Given the description of an element on the screen output the (x, y) to click on. 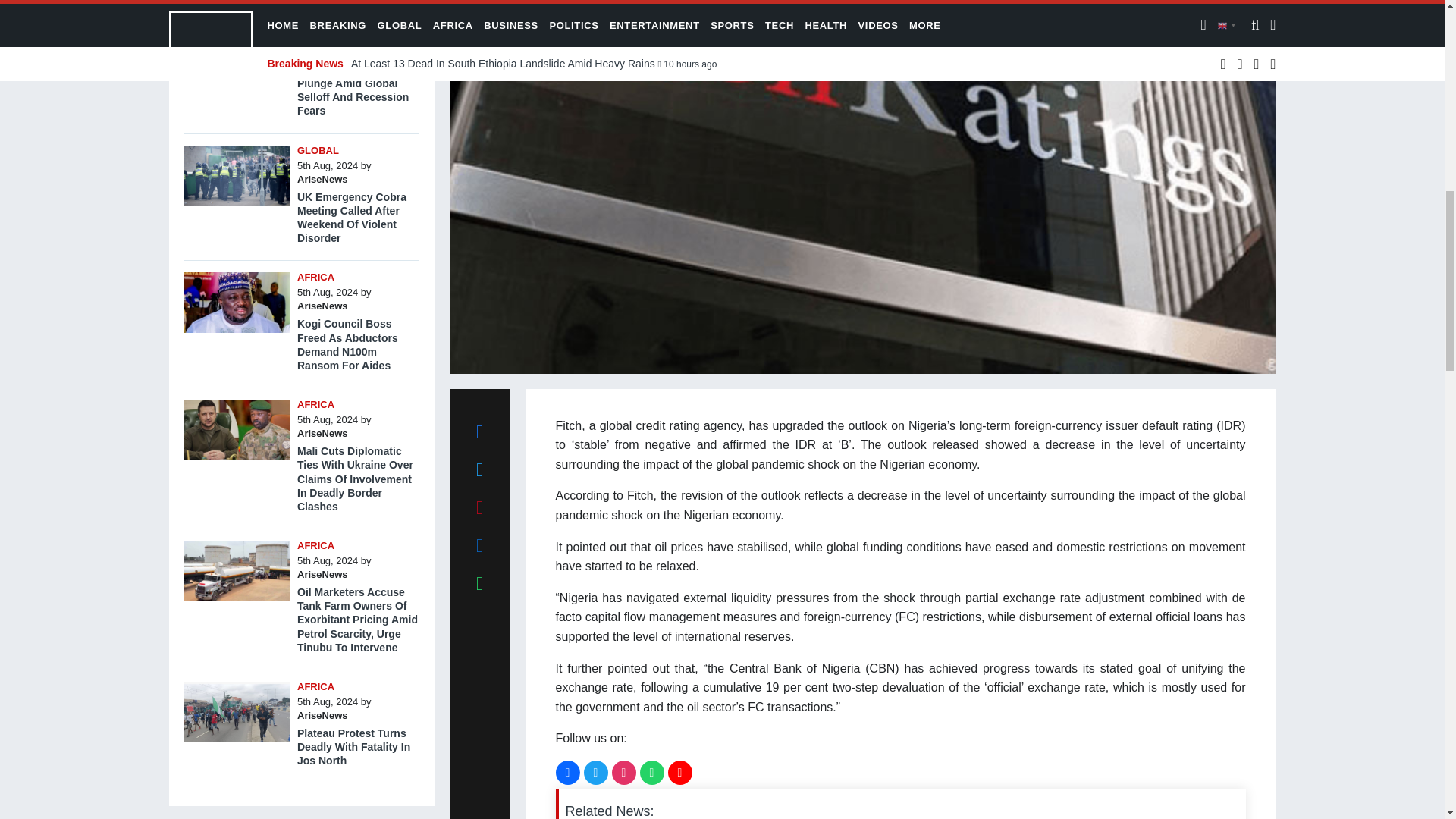
AriseNews (322, 51)
AriseNews (322, 179)
Posts by AriseNews (322, 432)
AriseNews (322, 432)
GLOBAL (318, 150)
